Given the description of an element on the screen output the (x, y) to click on. 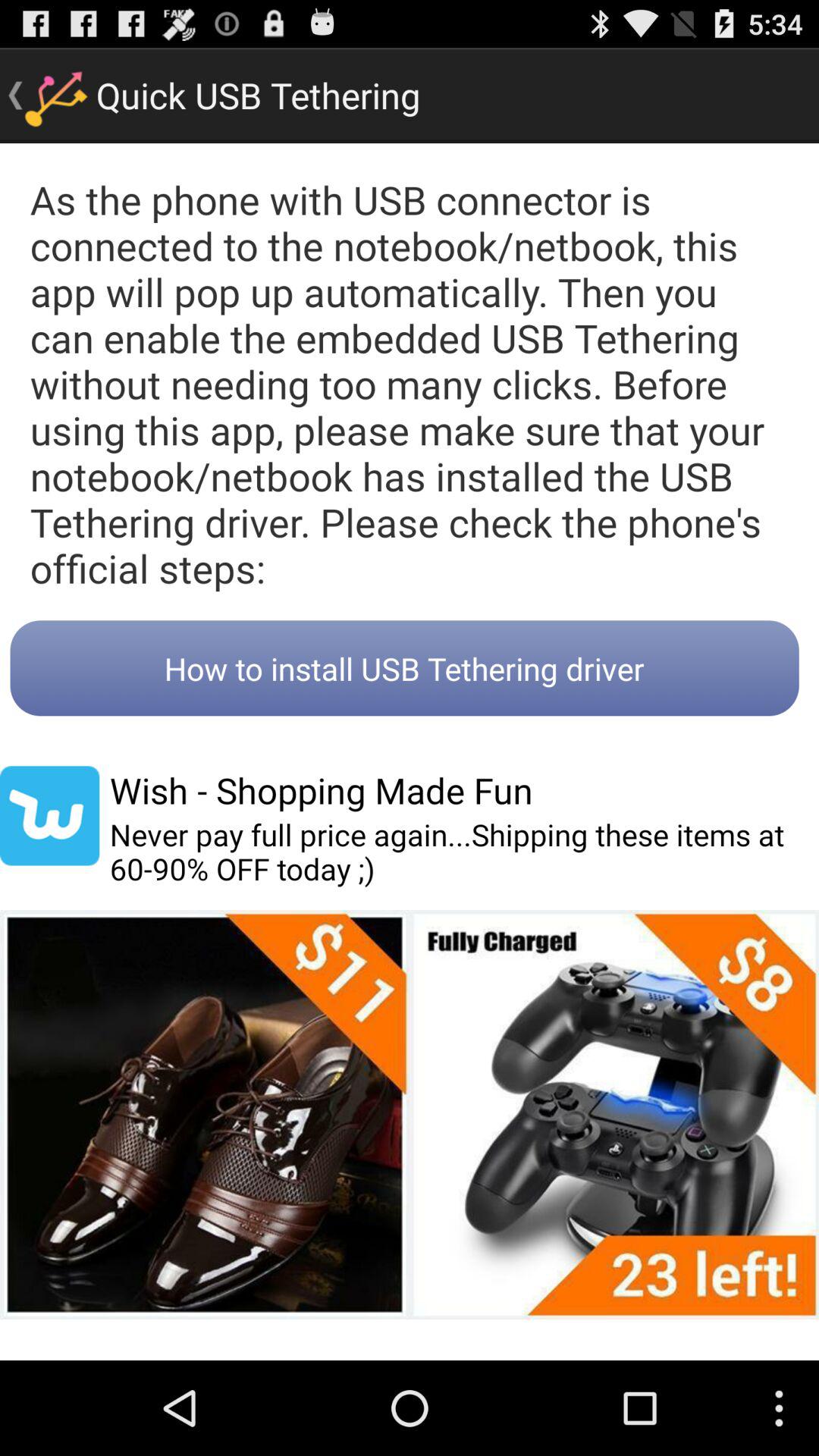
click never pay full item (464, 852)
